Given the description of an element on the screen output the (x, y) to click on. 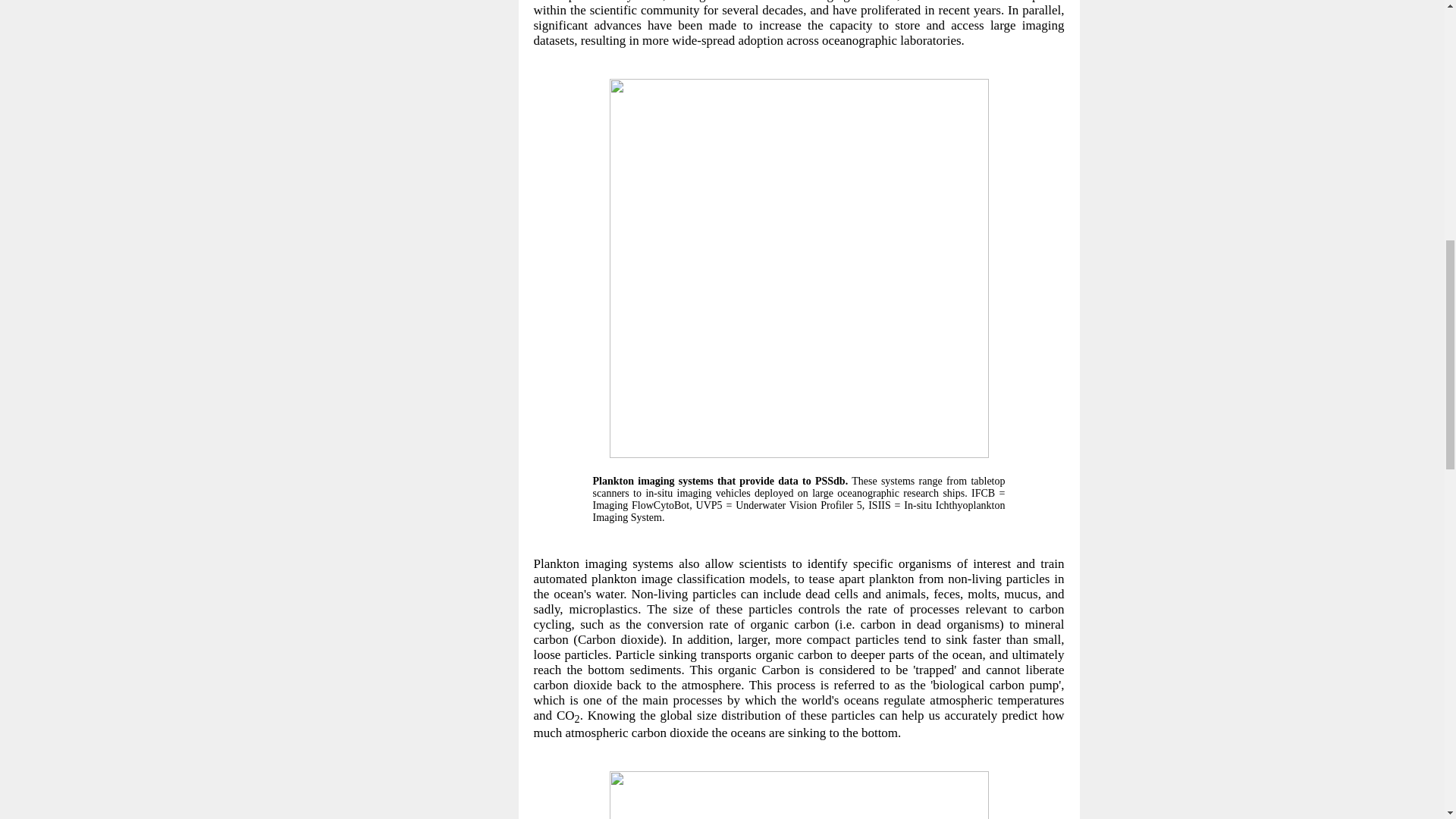
click to zoom (799, 453)
